Given the description of an element on the screen output the (x, y) to click on. 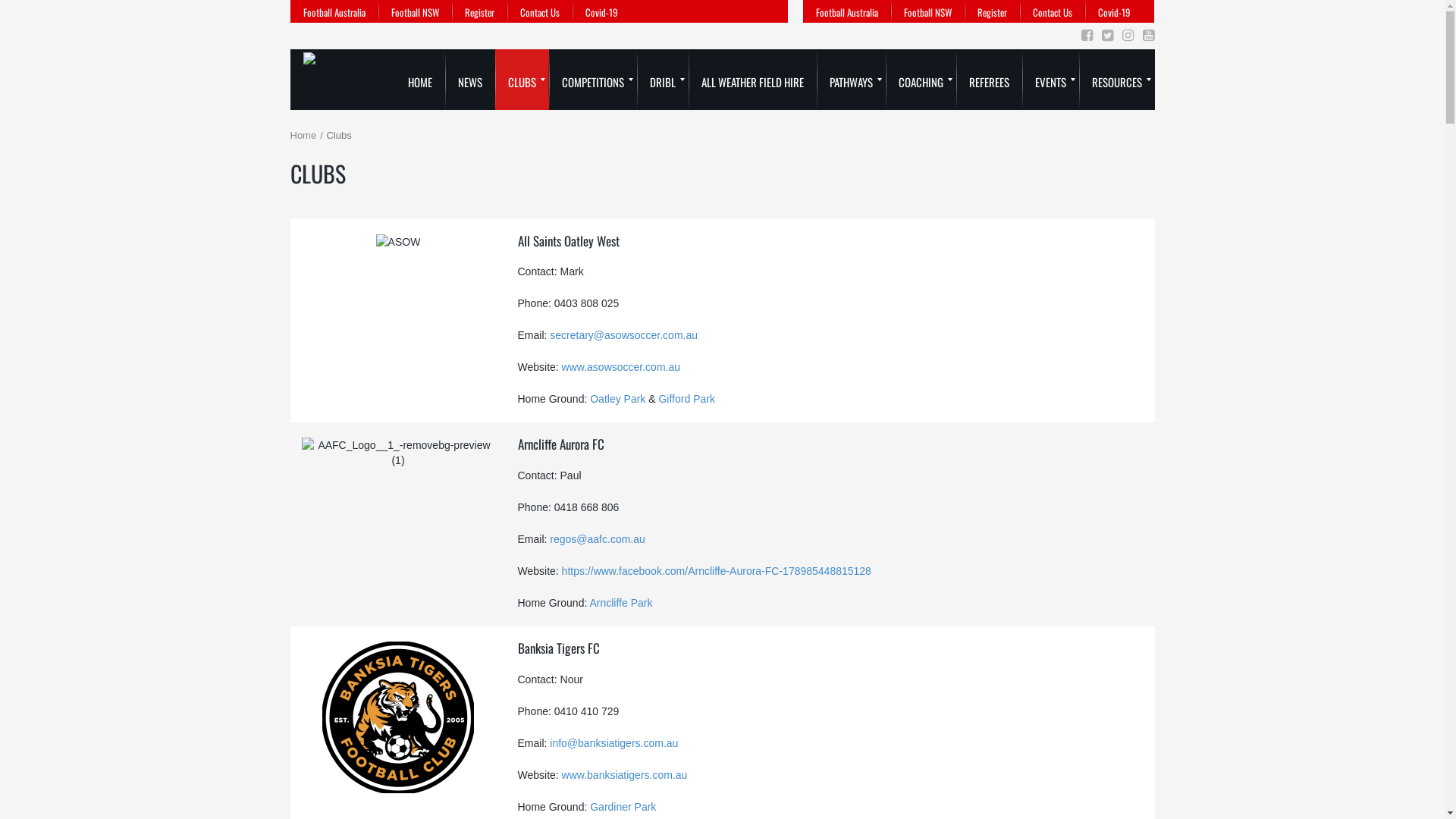
Banksia- NEW 2022 Element type: hover (397, 717)
DRIBL Element type: text (662, 79)
Register Element type: text (991, 11)
https://www.facebook.com/Arncliffe-Aurora-FC-178985448815128 Element type: text (716, 570)
Football Australia Element type: text (847, 11)
Register Element type: text (479, 11)
Football Australia Element type: text (333, 11)
ASOW Element type: hover (398, 241)
AAFC_Logo__1_-removebg-preview (1) Element type: hover (398, 452)
regos@aafc.com.au Element type: text (597, 539)
REFEREES Element type: text (988, 79)
Oatley Park Element type: text (617, 398)
www.banksiatigers.com.au Element type: text (624, 774)
Covid-19 Element type: text (1114, 11)
Covid-19 Element type: text (600, 11)
info@banksiatigers.com.au Element type: text (613, 743)
Football St George Element type: hover (308, 79)
Football NSW Element type: text (927, 11)
EVENTS Element type: text (1050, 79)
Gifford Park Element type: text (686, 398)
secretary@asowsoccer.com.au Element type: text (623, 335)
Arncliffe Park  Element type: text (622, 602)
Football NSW Element type: text (414, 11)
NEWS Element type: text (469, 79)
HOME Element type: text (419, 79)
ALL WEATHER FIELD HIRE Element type: text (752, 79)
PATHWAYS Element type: text (849, 79)
www.asowsoccer.com.au Element type: text (620, 366)
Contact Us Element type: text (538, 11)
COACHING Element type: text (920, 79)
Gardiner Park  Element type: text (623, 806)
Home Element type: text (302, 135)
Contact Us Element type: text (1052, 11)
RESOURCES Element type: text (1116, 79)
CLUBS Element type: text (521, 79)
